Given the description of an element on the screen output the (x, y) to click on. 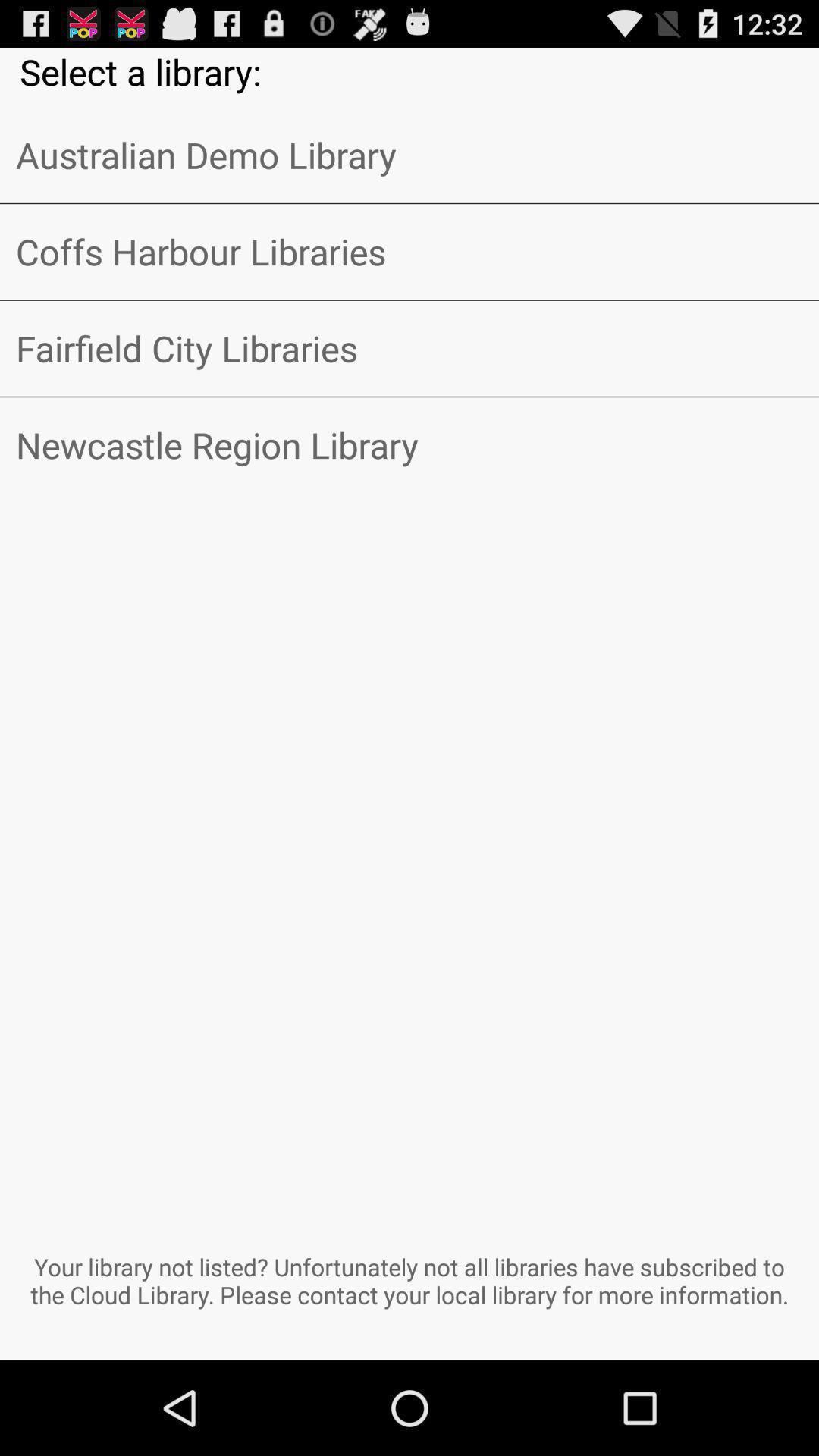
flip until newcastle region library icon (409, 445)
